Given the description of an element on the screen output the (x, y) to click on. 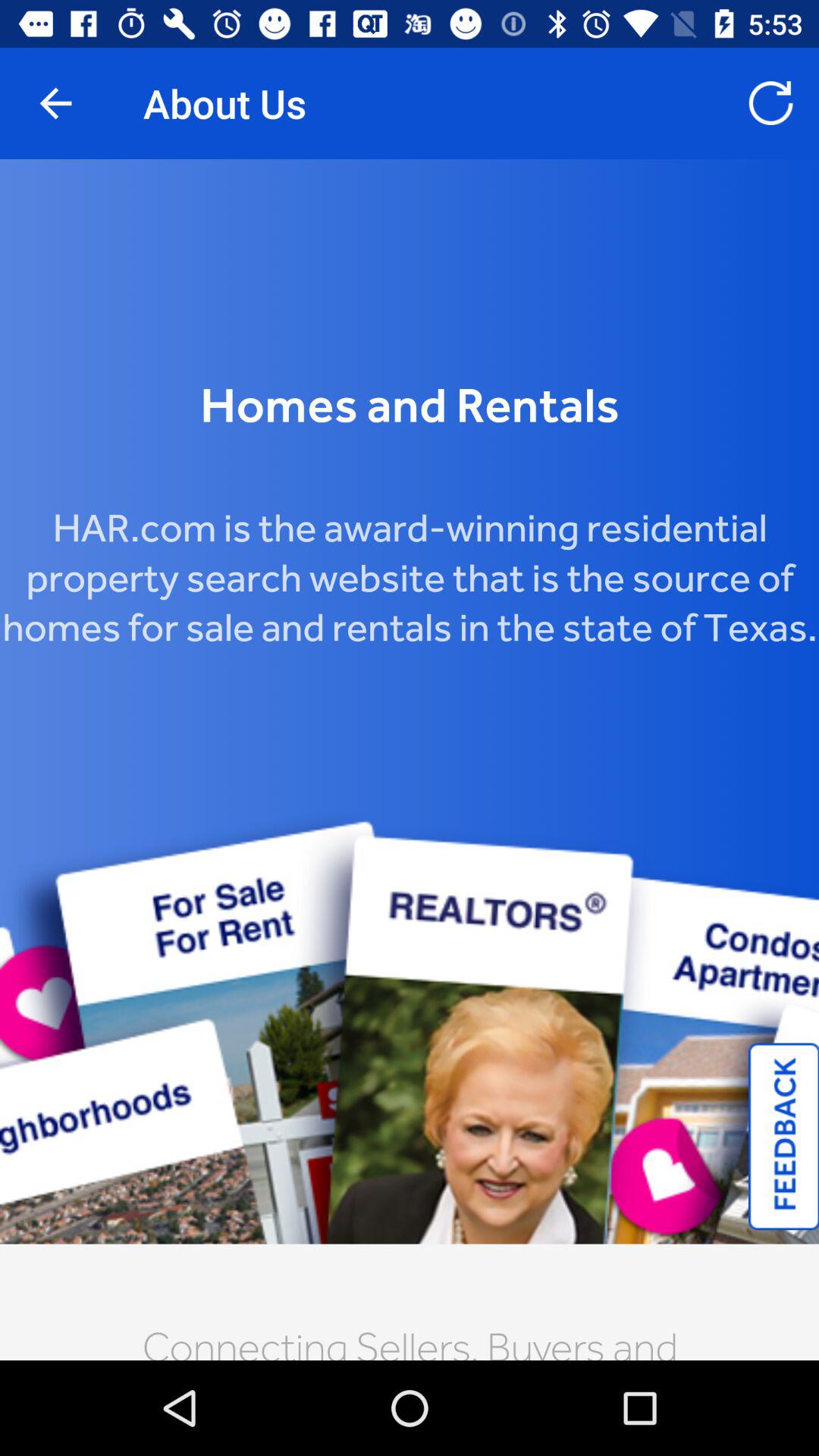
advardicement page (409, 759)
